Given the description of an element on the screen output the (x, y) to click on. 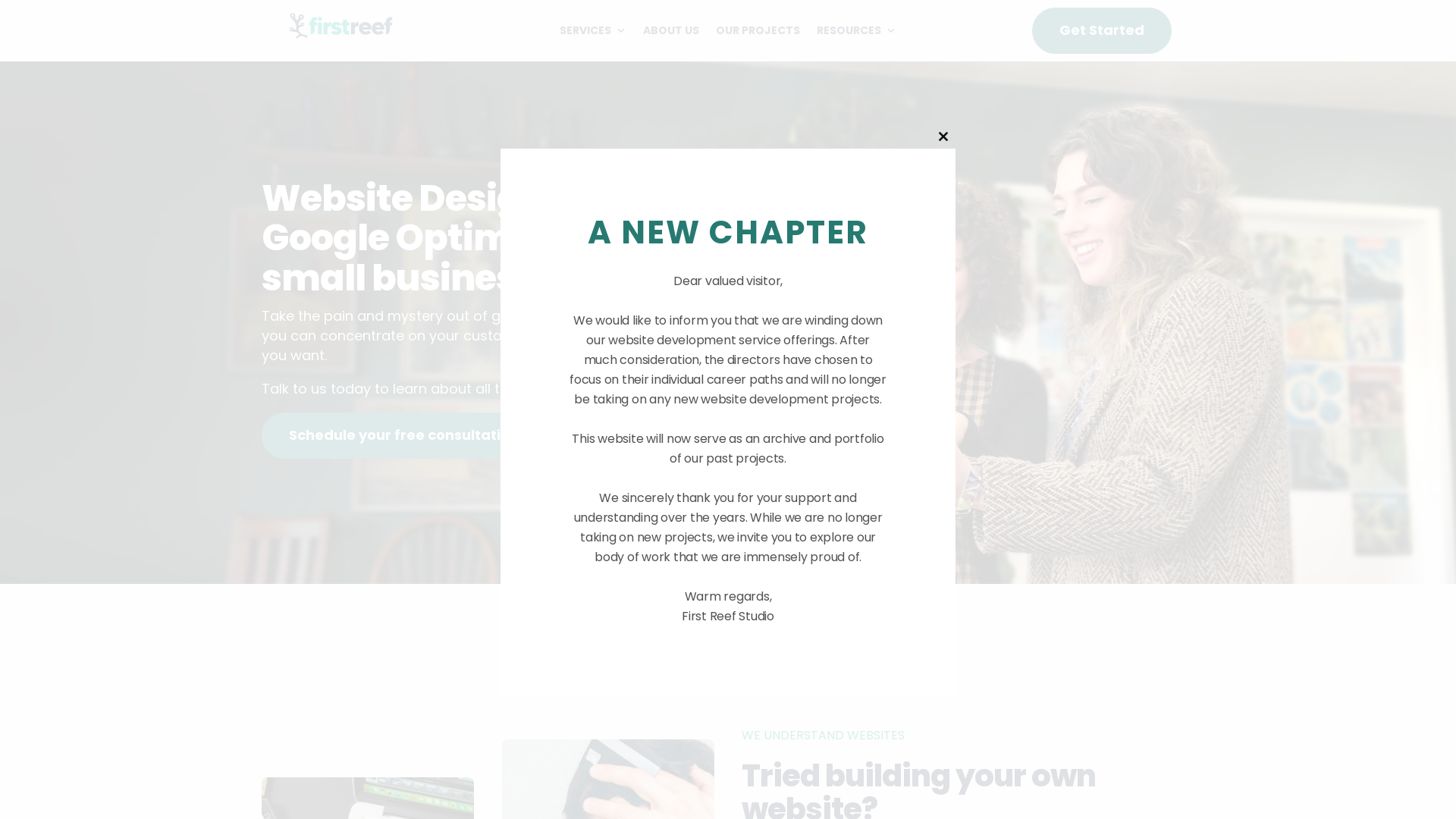
OUR PROJECTS Element type: text (757, 33)
First Reef Studio Logo Element type: hover (341, 25)
SERVICES Element type: text (592, 33)
Close this module Element type: text (943, 136)
Get Started Element type: text (1101, 30)
Schedule your free consultation today Element type: text (426, 435)
RESOURCES Element type: text (856, 33)
ABOUT US Element type: text (671, 33)
Skip to content Element type: text (0, 0)
